Given the description of an element on the screen output the (x, y) to click on. 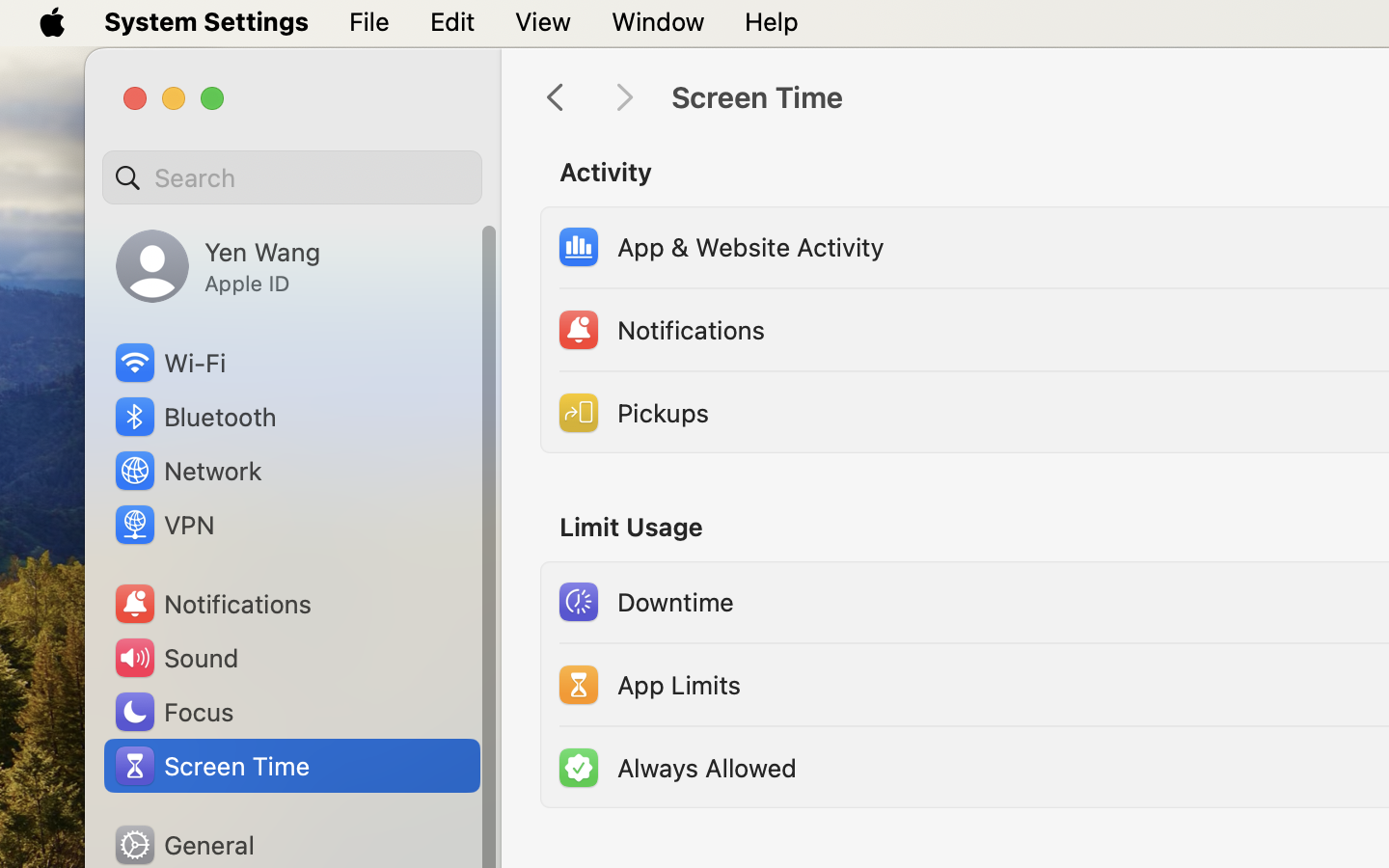
Network Element type: AXStaticText (186, 470)
Wi‑Fi Element type: AXStaticText (168, 362)
Yen Wang, Apple ID Element type: AXStaticText (217, 265)
Bluetooth Element type: AXStaticText (194, 416)
VPN Element type: AXStaticText (162, 524)
